Given the description of an element on the screen output the (x, y) to click on. 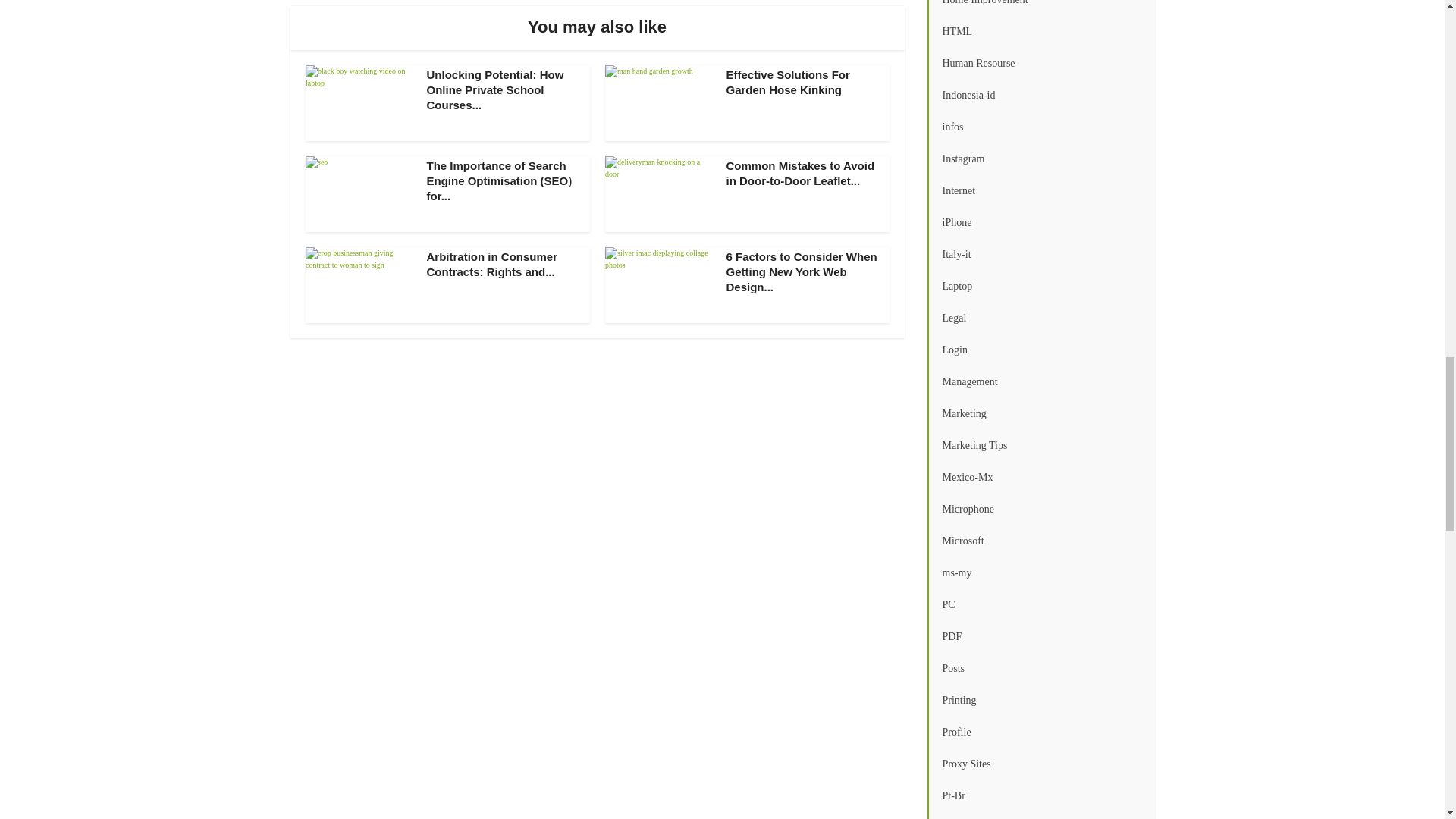
Common Mistakes to Avoid in Door-to-Door Leaflet... (800, 172)
Common Mistakes to Avoid in Door-to-Door Leaflet Delivery (800, 172)
Arbitration in Consumer Contracts: Rights and Considerations (491, 264)
Arbitration in Consumer Contracts: Rights and... (491, 264)
6 Factors to Consider When Getting New York Web Design... (801, 272)
Effective Solutions For Garden Hose Kinking (788, 81)
Effective Solutions For Garden Hose Kinking (788, 81)
Unlocking Potential: How Online Private School Courses... (494, 89)
